Given the description of an element on the screen output the (x, y) to click on. 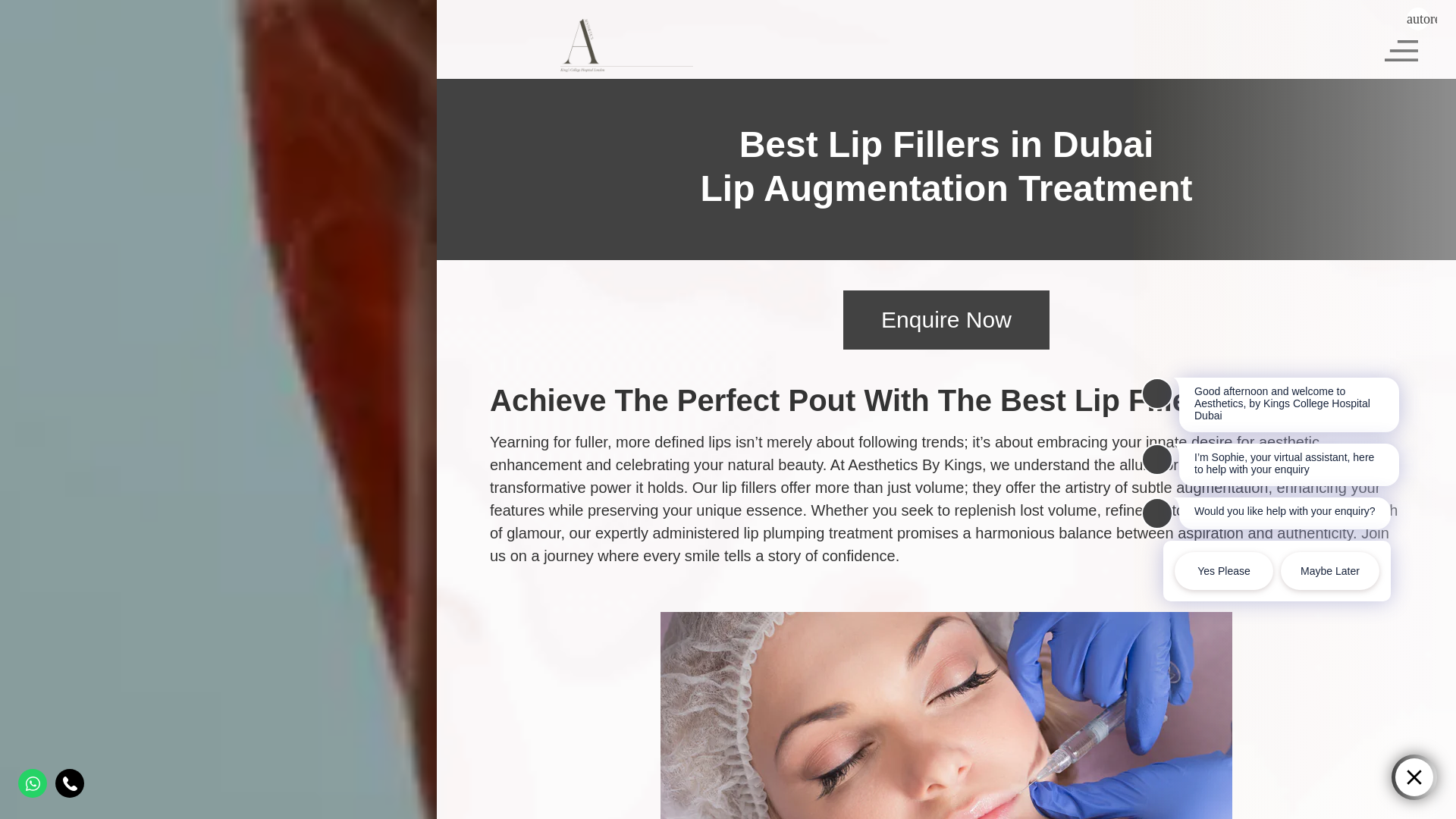
Contact us on Whatsapp (31, 783)
Slide out Menu (1401, 49)
Enquire Now (946, 319)
Call and book now! (69, 783)
Aesthetics Plastic Surgery Clinic in Dubai (626, 45)
